Given the description of an element on the screen output the (x, y) to click on. 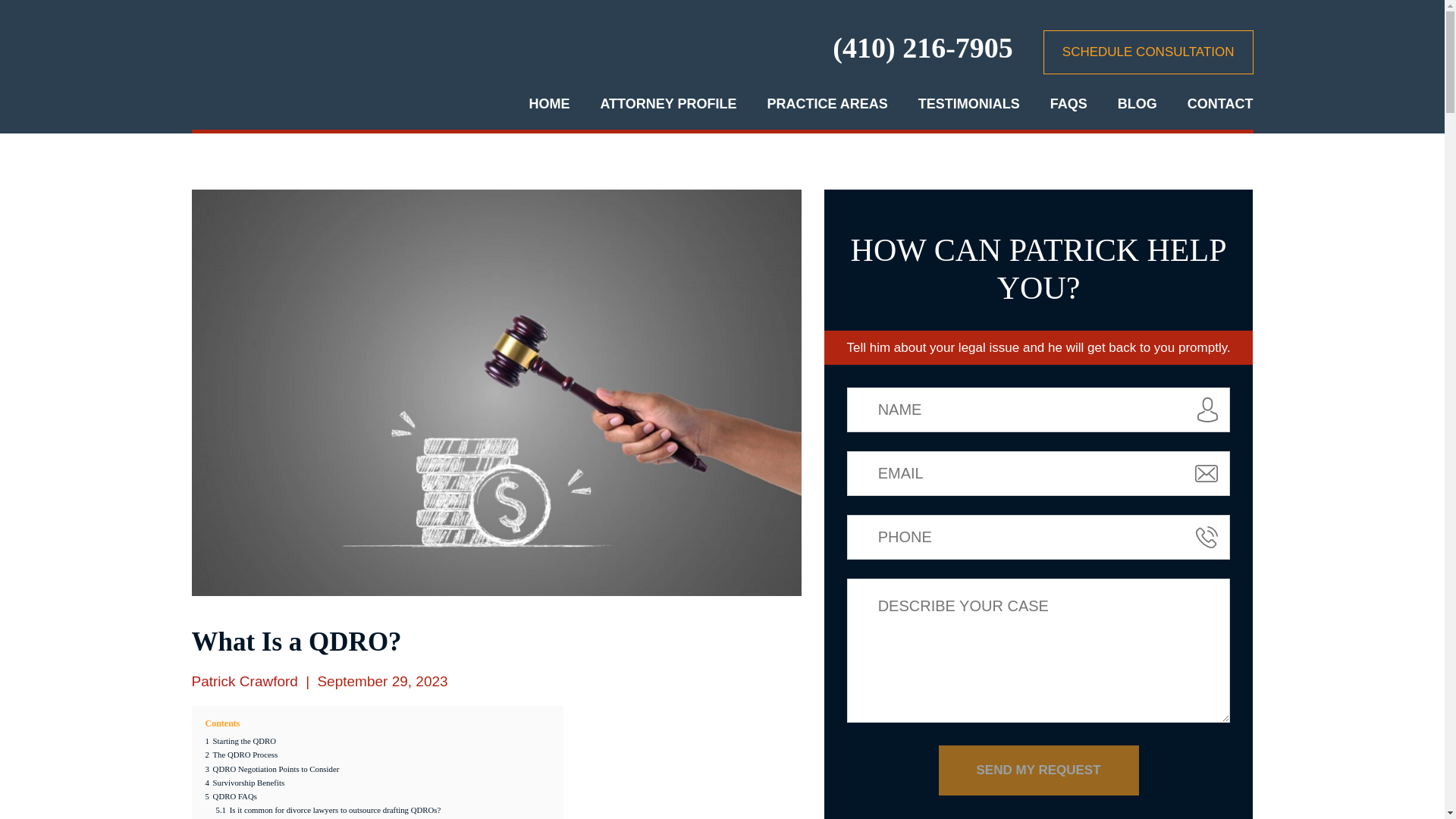
HOME (548, 103)
4 Survivorship Benefits (244, 782)
FAQS (1068, 103)
5 QDRO FAQs (230, 795)
3 QDRO Negotiation Points to Consider (272, 768)
Patrick Crawford (243, 681)
SEND MY REQUEST (1038, 770)
CONTACT (1220, 103)
BLOG (1137, 103)
ATTORNEY PROFILE (667, 103)
